Given the description of an element on the screen output the (x, y) to click on. 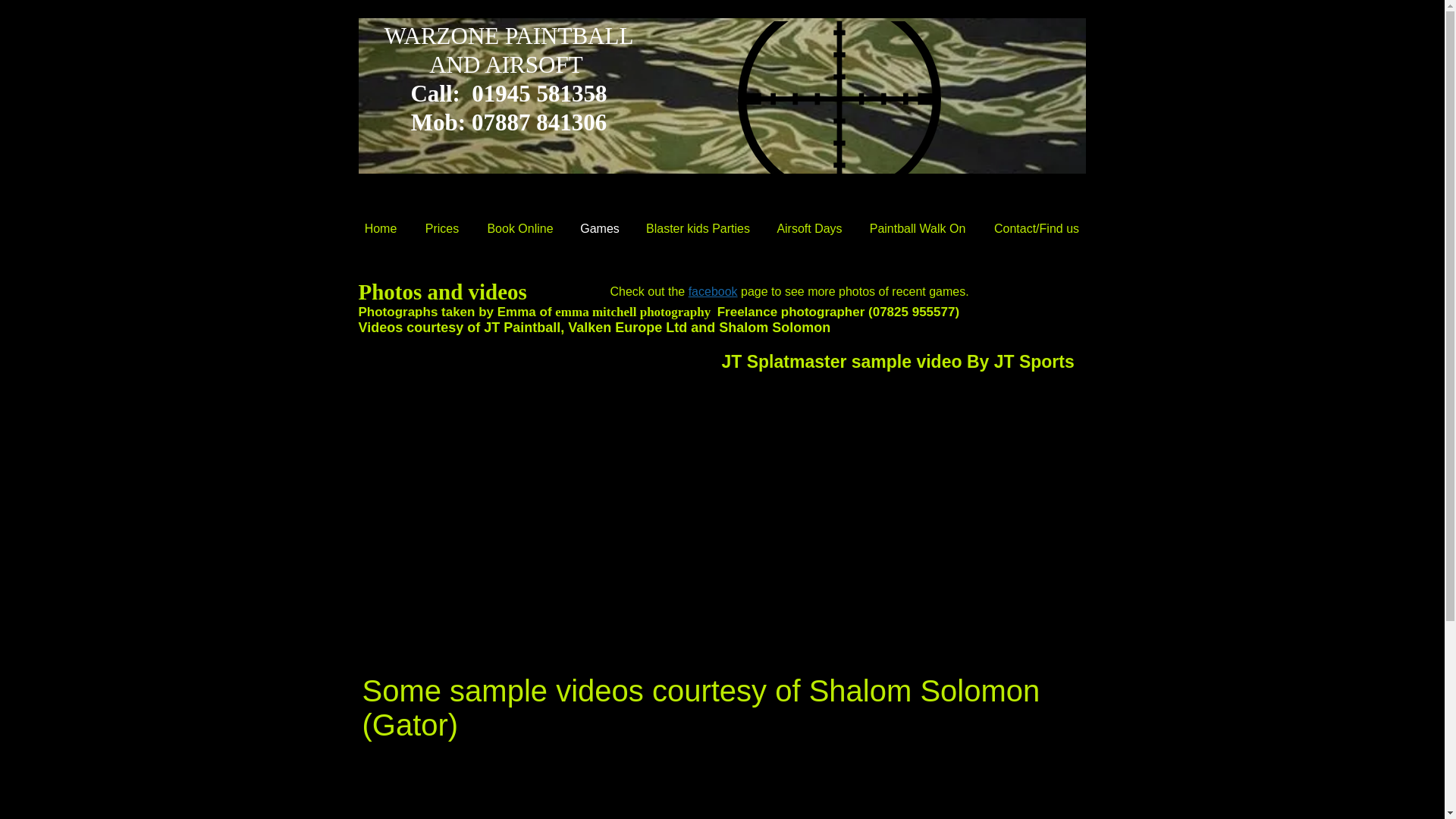
Home (380, 228)
Paintball Walk On (917, 228)
External YouTube (904, 478)
facebook (713, 291)
Games (599, 228)
External YouTube (896, 778)
Blaster kids Parties (696, 228)
Prices (441, 228)
External YouTube (534, 778)
Airsoft Days (808, 228)
